Given the description of an element on the screen output the (x, y) to click on. 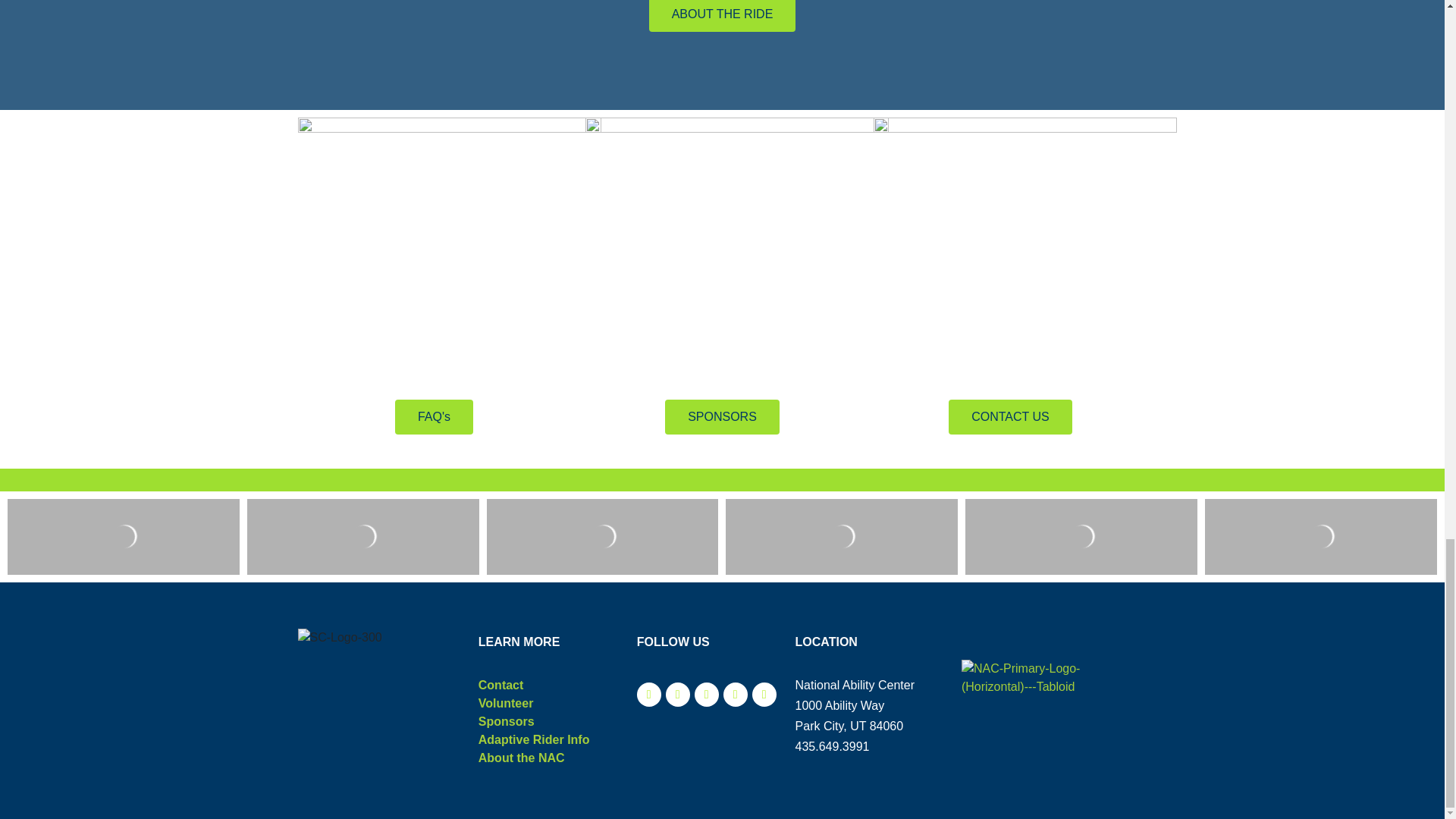
FAQ's (433, 416)
ABOUT THE RIDE (722, 15)
SPONSORS (721, 416)
SC-Logo-300 (339, 637)
